Given the description of an element on the screen output the (x, y) to click on. 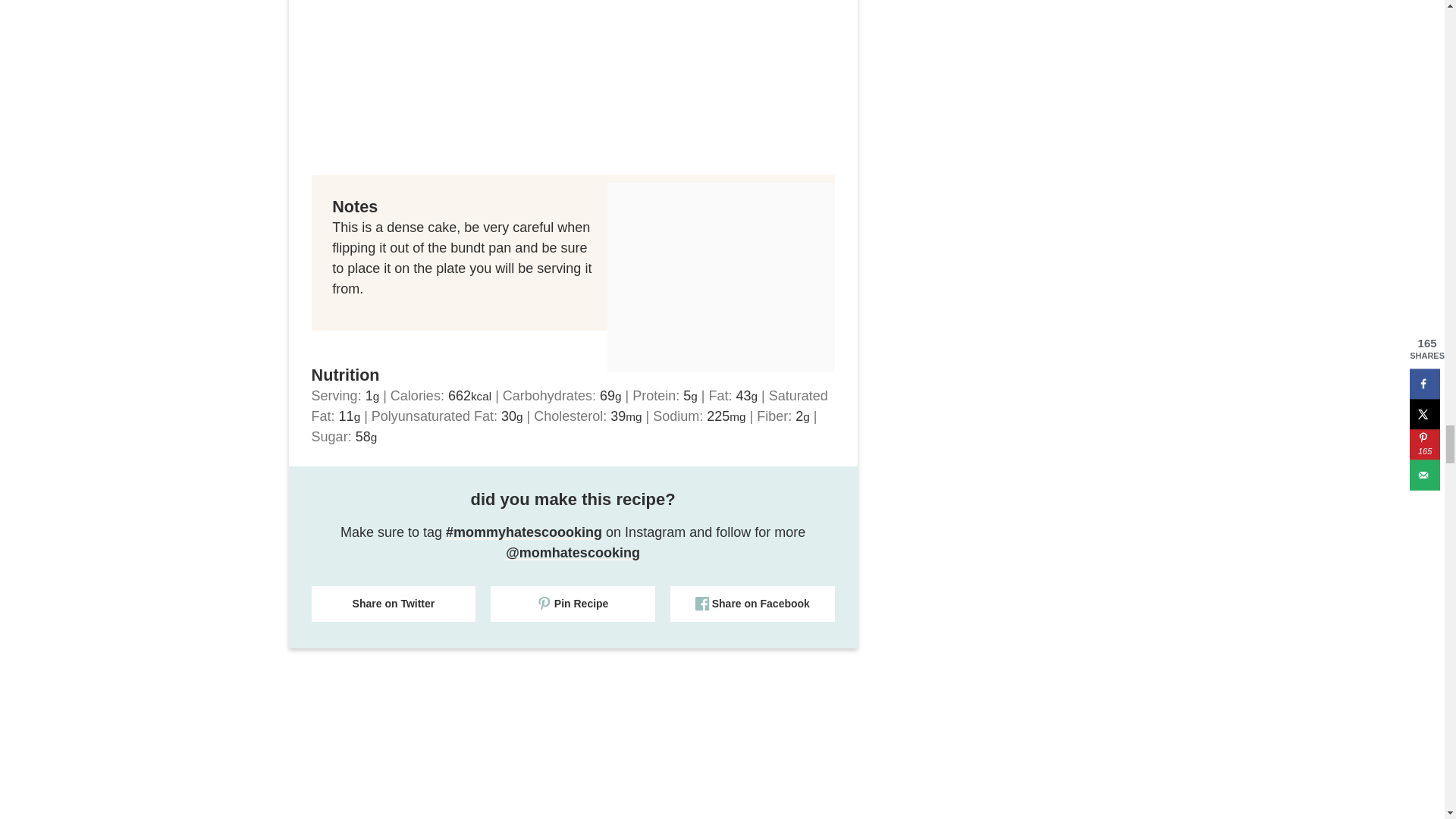
YouTube video player (572, 84)
